Given the description of an element on the screen output the (x, y) to click on. 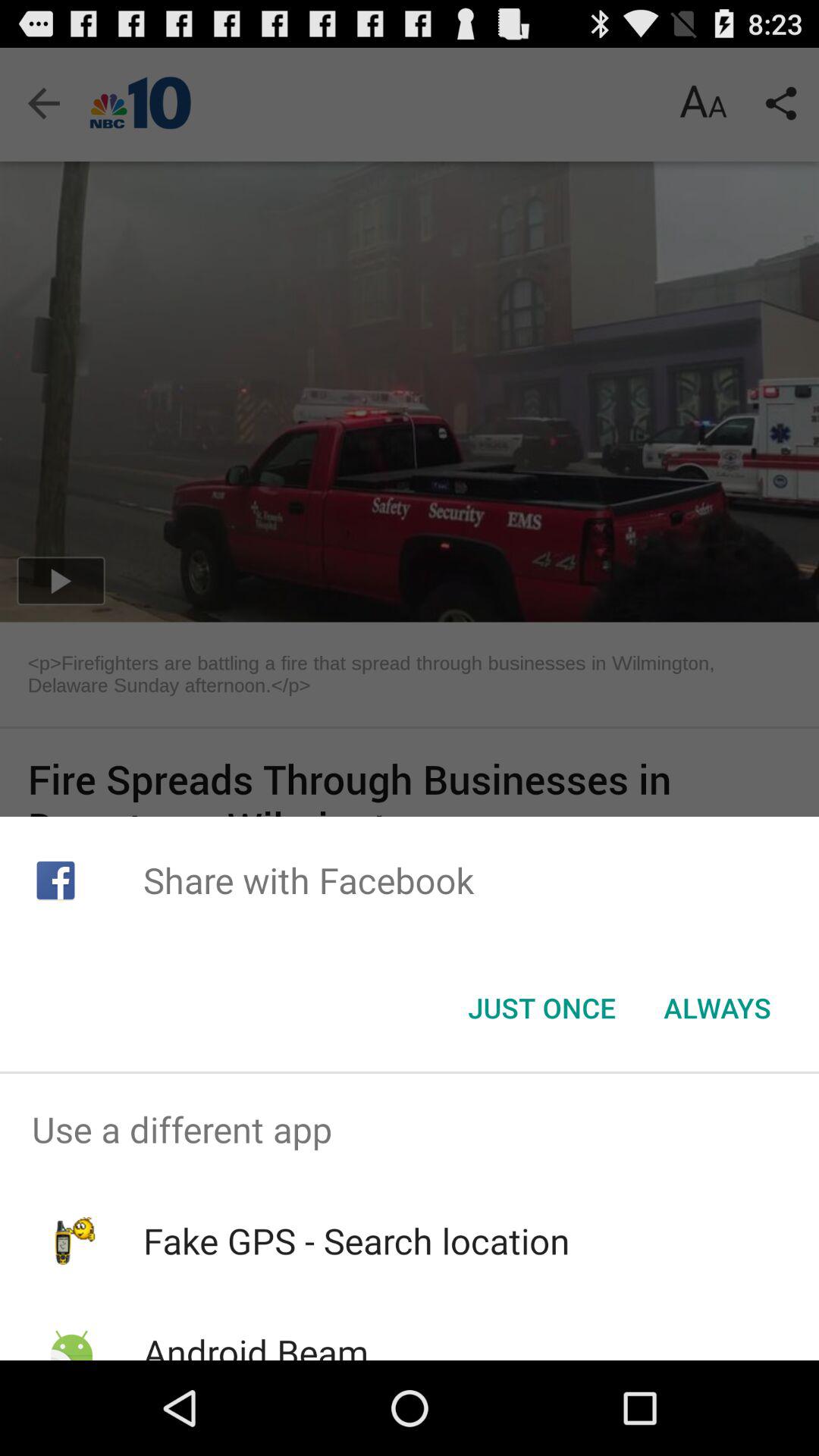
turn off use a different (409, 1129)
